Given the description of an element on the screen output the (x, y) to click on. 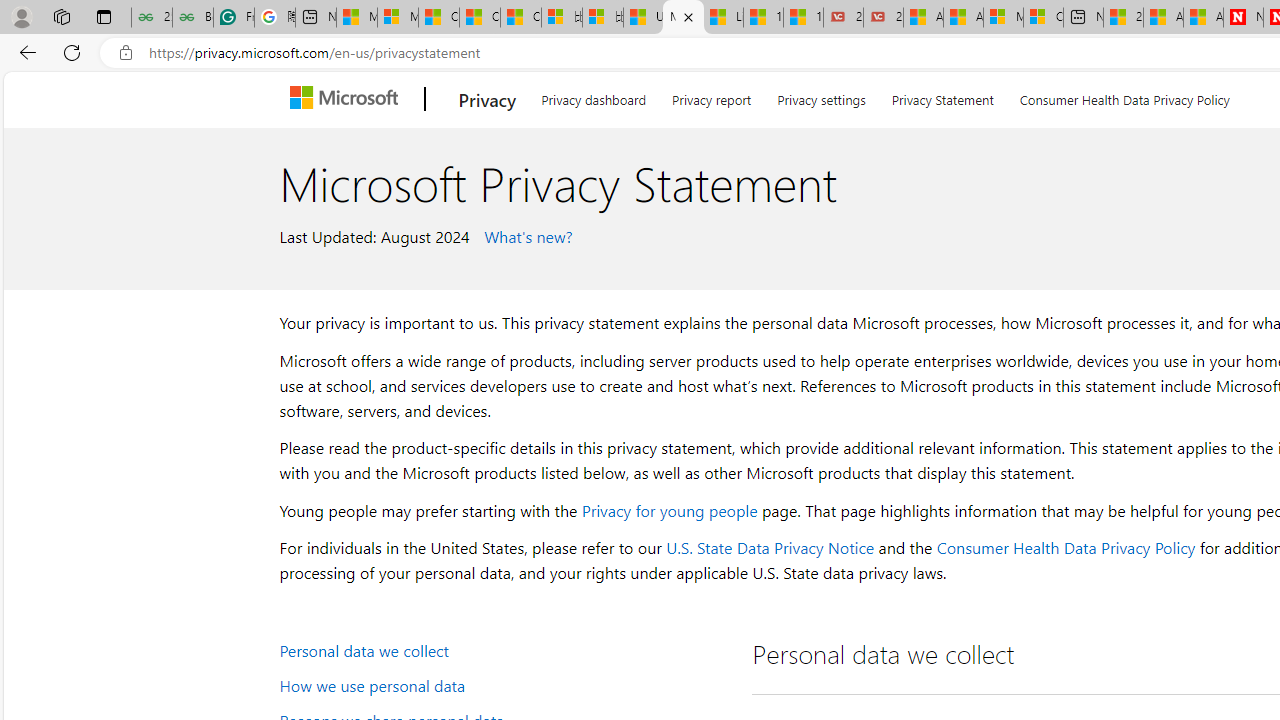
21 Movies That Outdid the Books They Were Based On (883, 17)
U.S. State Data Privacy Notice (770, 547)
Consumer Health Data Privacy Policy (1124, 96)
Privacy report (712, 96)
15 Ways Modern Life Contradicts the Teachings of Jesus (803, 17)
25 Basic Linux Commands For Beginners - GeeksforGeeks (151, 17)
Privacy report (712, 96)
